Given the description of an element on the screen output the (x, y) to click on. 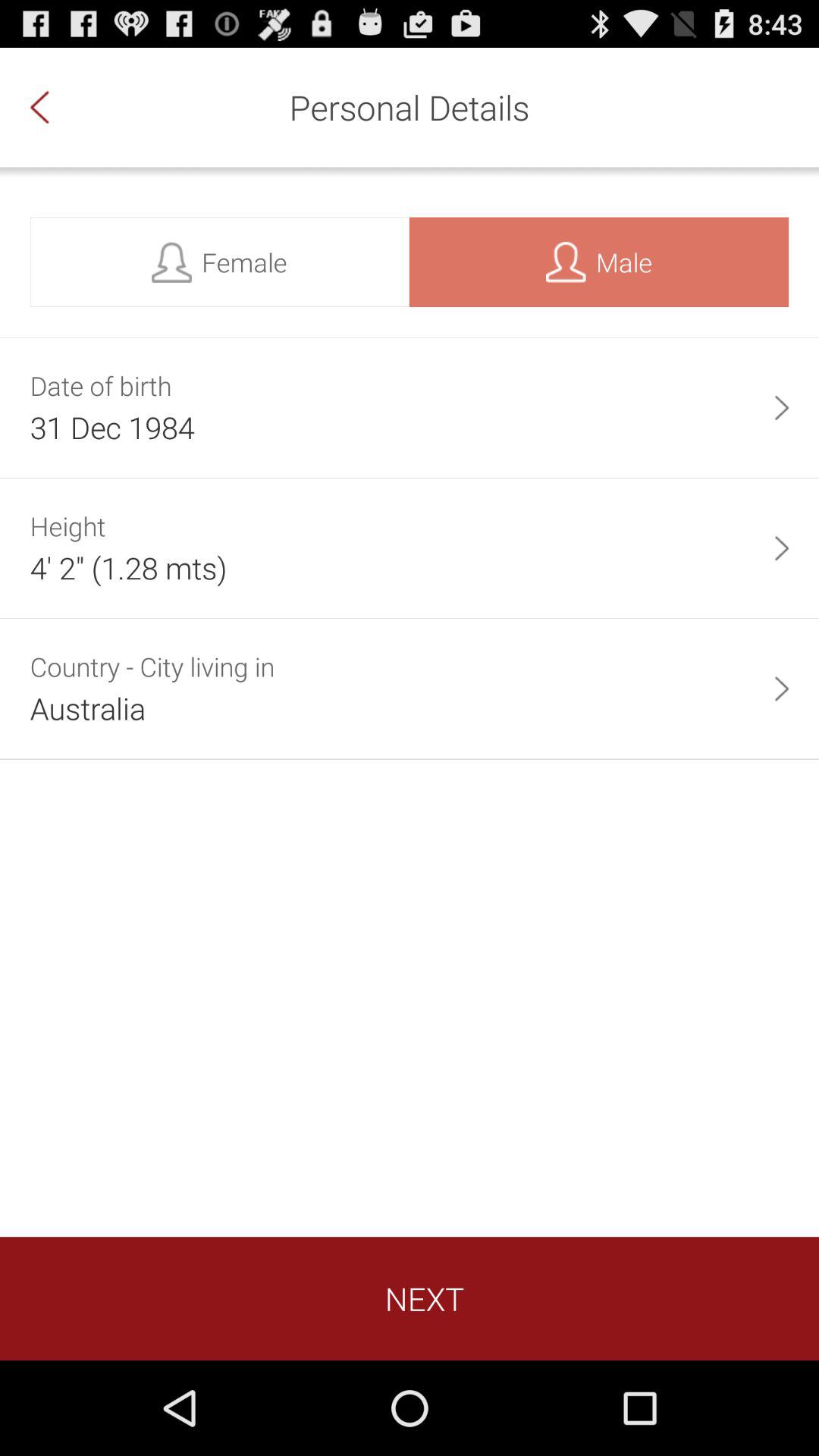
press app next to 31 dec 1984 item (781, 407)
